Given the description of an element on the screen output the (x, y) to click on. 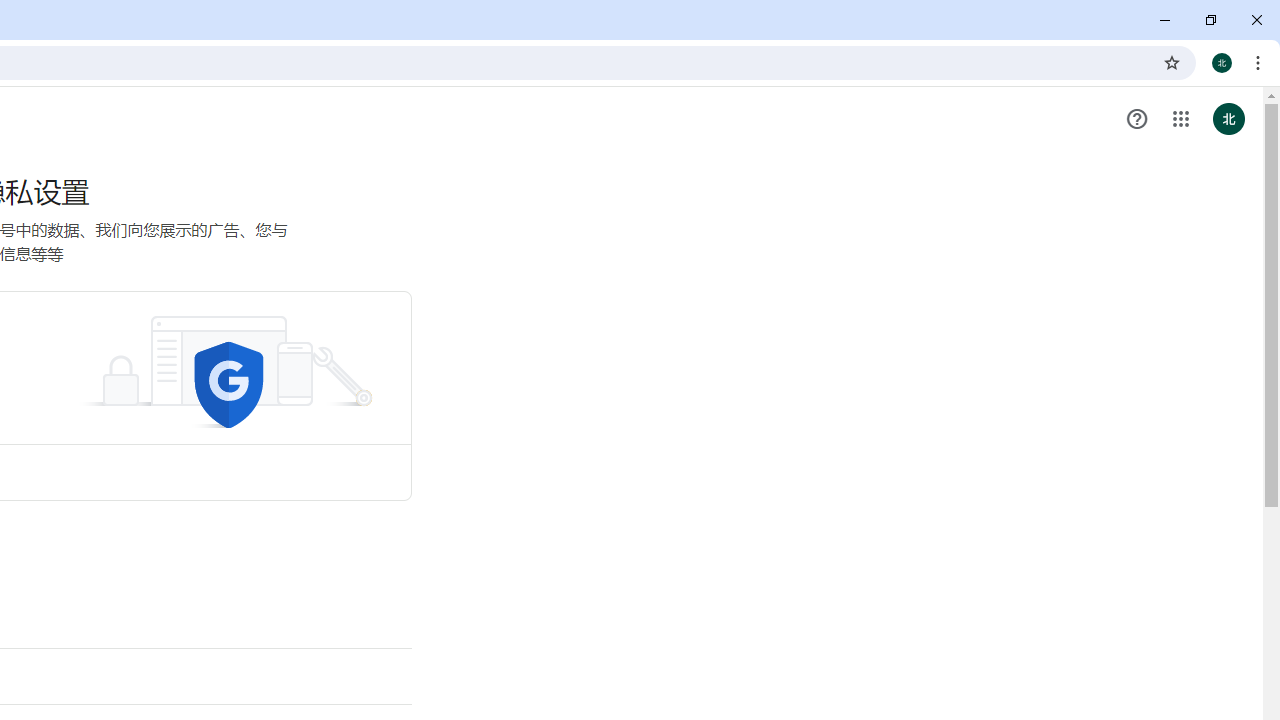
More actions for Web Store shortcut (152, 464)
More actions for Sign in shortcut (39, 464)
Web Store (111, 502)
